Given the description of an element on the screen output the (x, y) to click on. 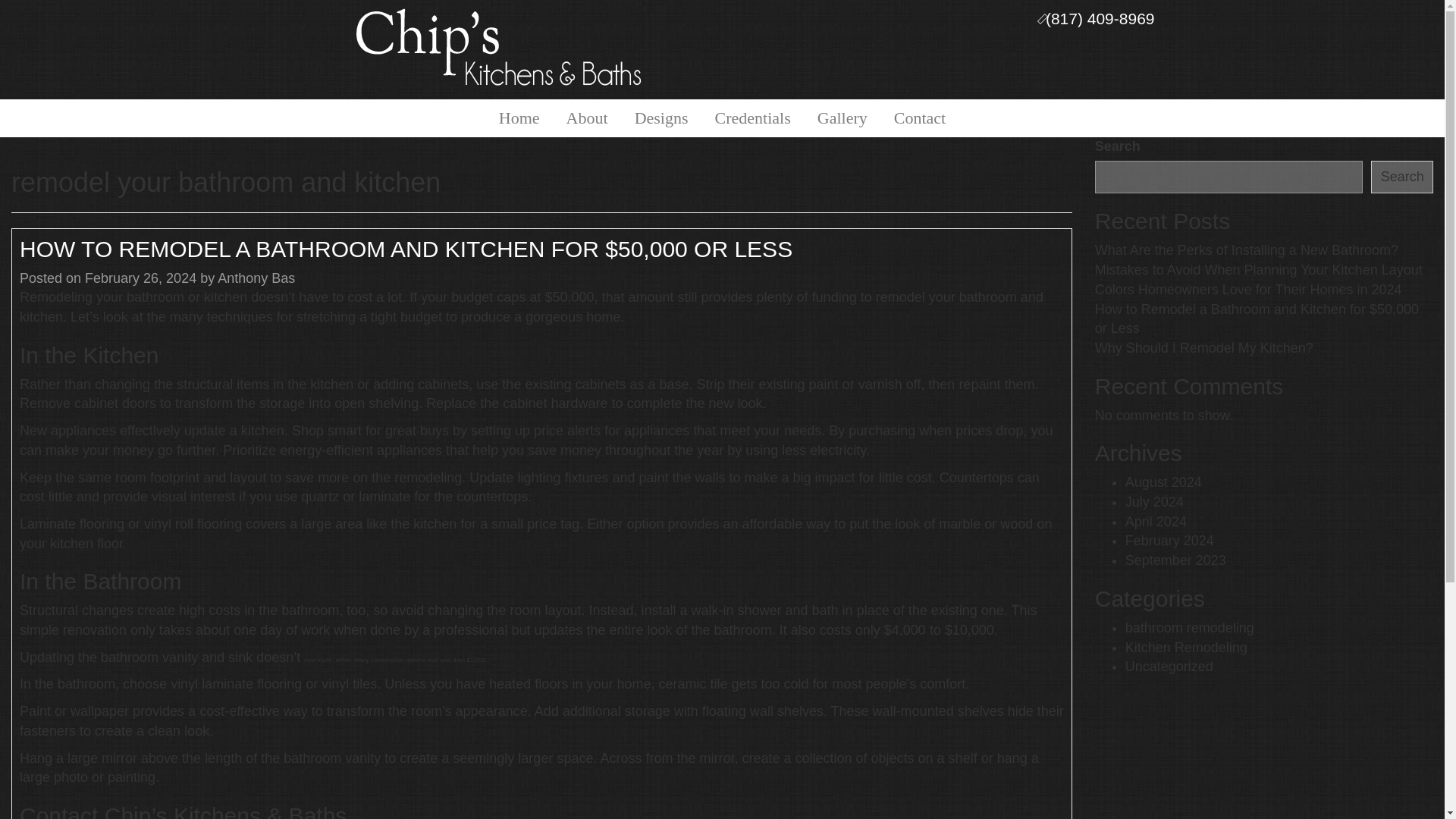
Home (519, 118)
April 2024 (1155, 521)
Contact (919, 118)
Credentials (752, 118)
Designs (661, 118)
Chip's Kitchens and Baths (499, 47)
February 26, 2024 (140, 278)
Kitchen Remodeling (1186, 647)
View all posts by Anthony Bas (255, 278)
July 2024 (1154, 501)
